Given the description of an element on the screen output the (x, y) to click on. 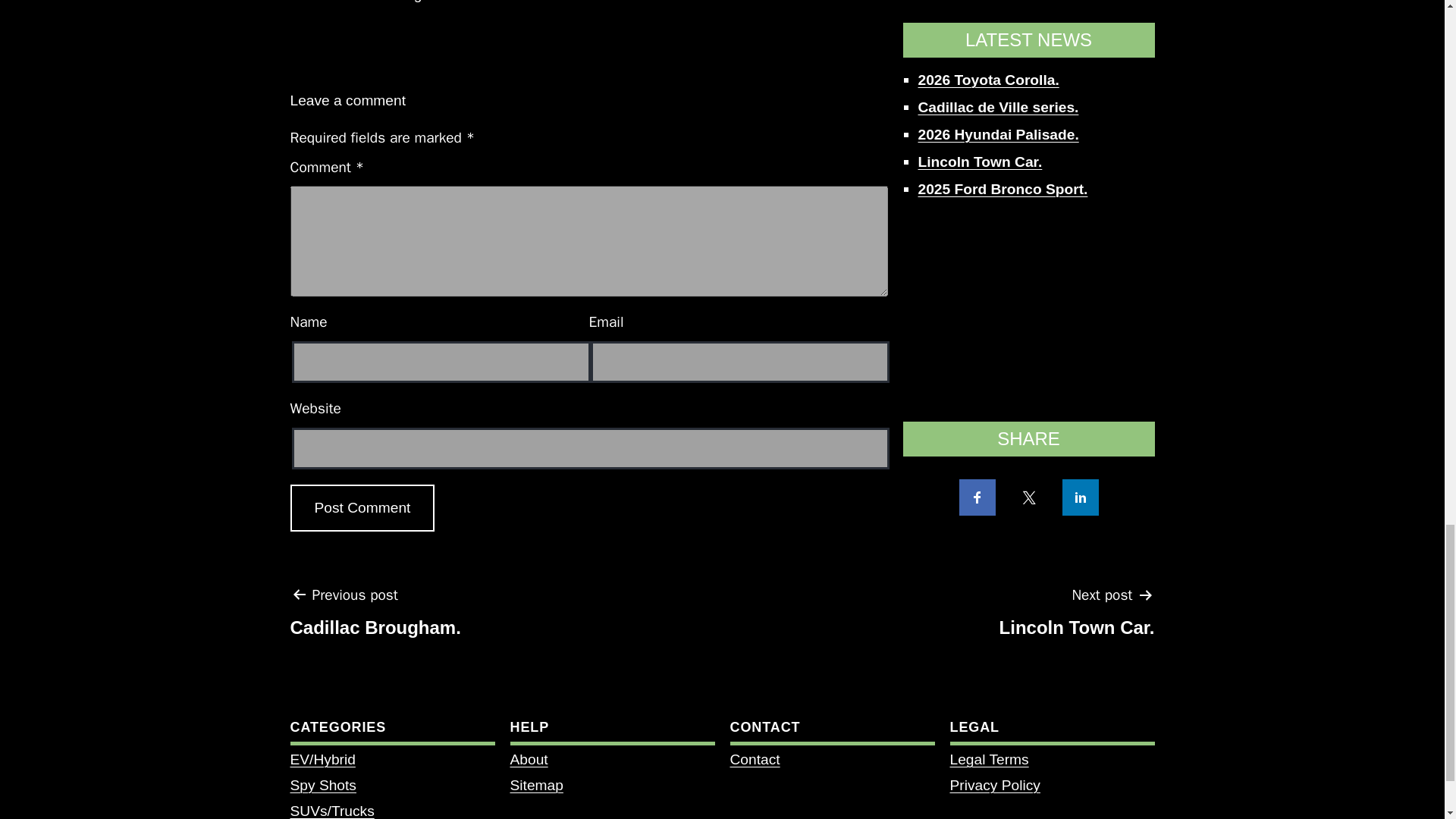
Legal Terms (988, 759)
Contact (753, 759)
Privacy Policy (994, 785)
Spy Shots (322, 785)
About (528, 759)
Post Comment (1076, 616)
Sitemap (361, 508)
Post Comment (535, 785)
